Given the description of an element on the screen output the (x, y) to click on. 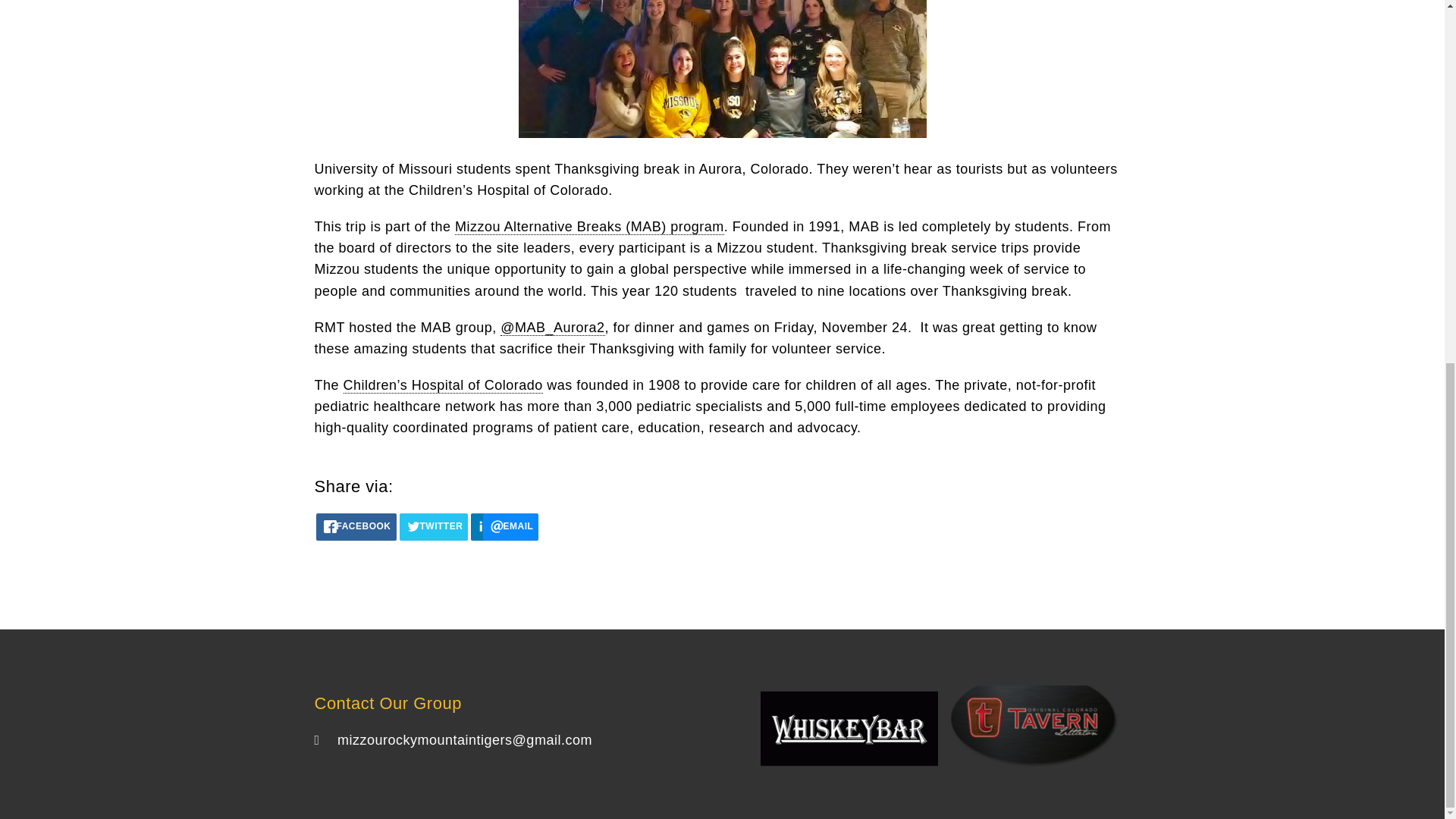
FACEBOOK (355, 526)
LINKEDIN (483, 526)
EMAIL (510, 526)
TWITTER (433, 526)
